Given the description of an element on the screen output the (x, y) to click on. 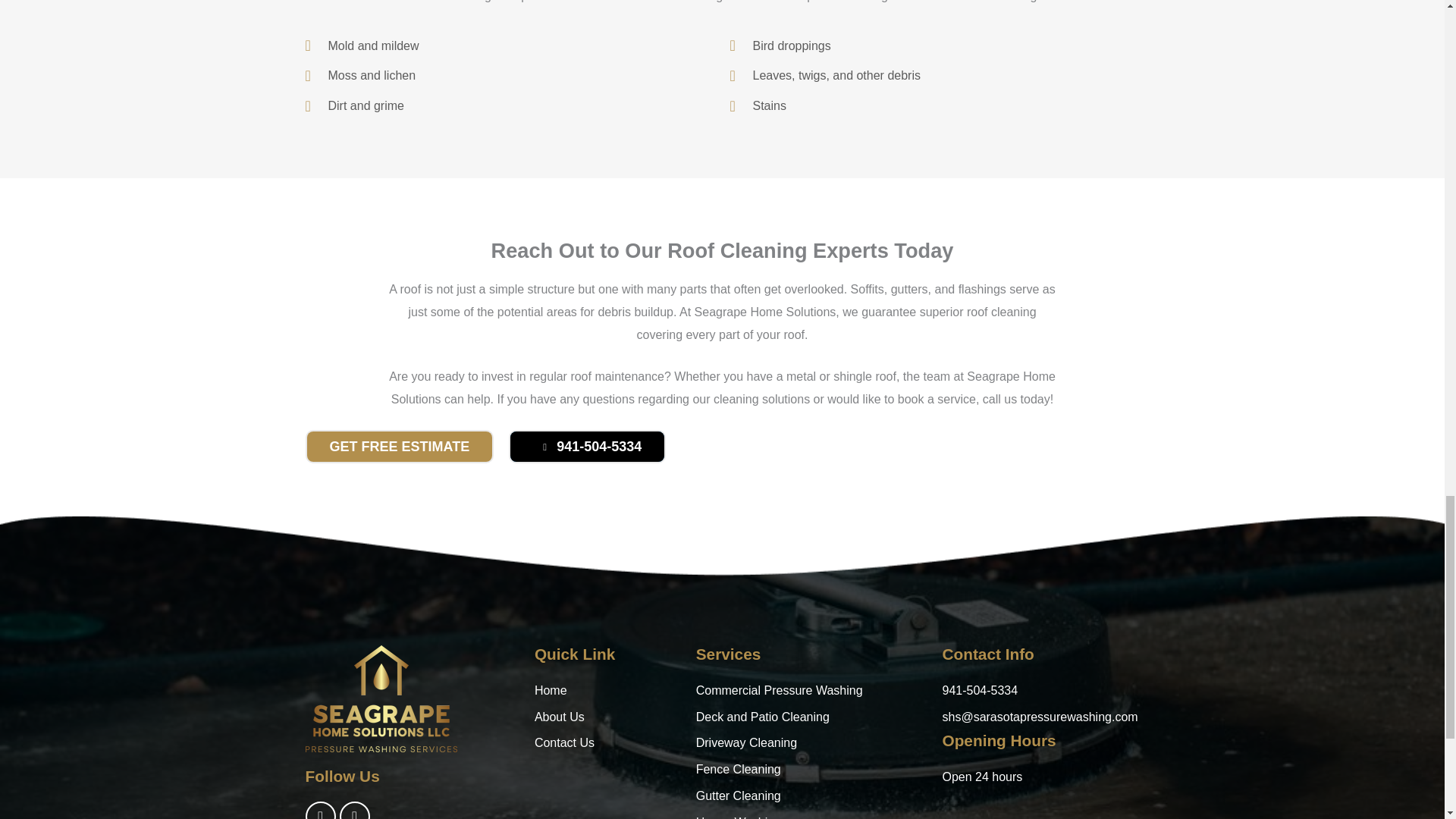
Home (607, 690)
941-504-5334 (586, 446)
About Us (607, 716)
GET FREE ESTIMATE (398, 446)
